Given the description of an element on the screen output the (x, y) to click on. 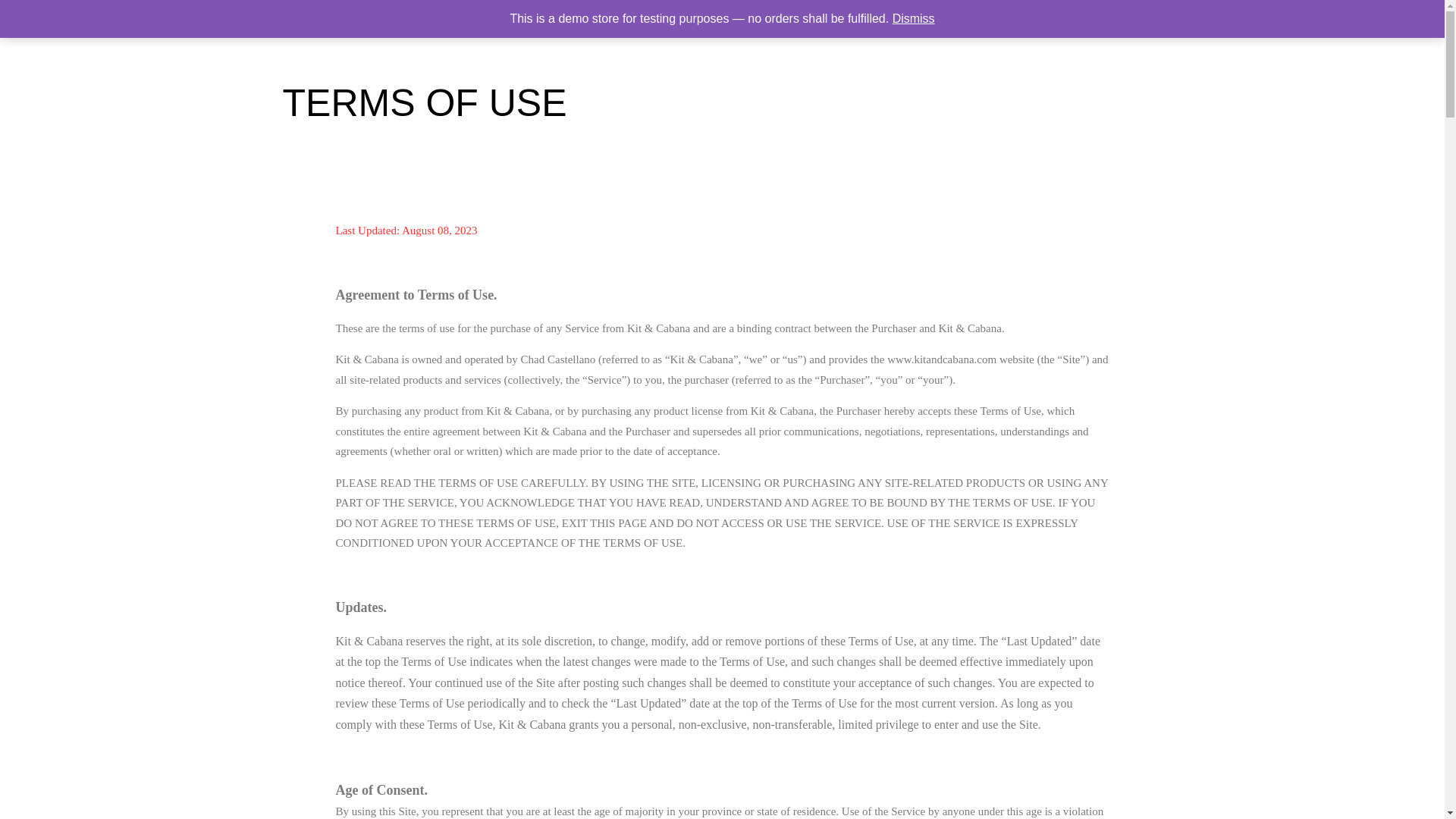
MODERN HOME PLANS (1004, 24)
BLOG (1329, 24)
Dismiss (913, 18)
ABOUT (1213, 24)
CONTACT (1273, 24)
Shop sidebar (1389, 25)
PRODUCT INFO (1139, 24)
